Given the description of an element on the screen output the (x, y) to click on. 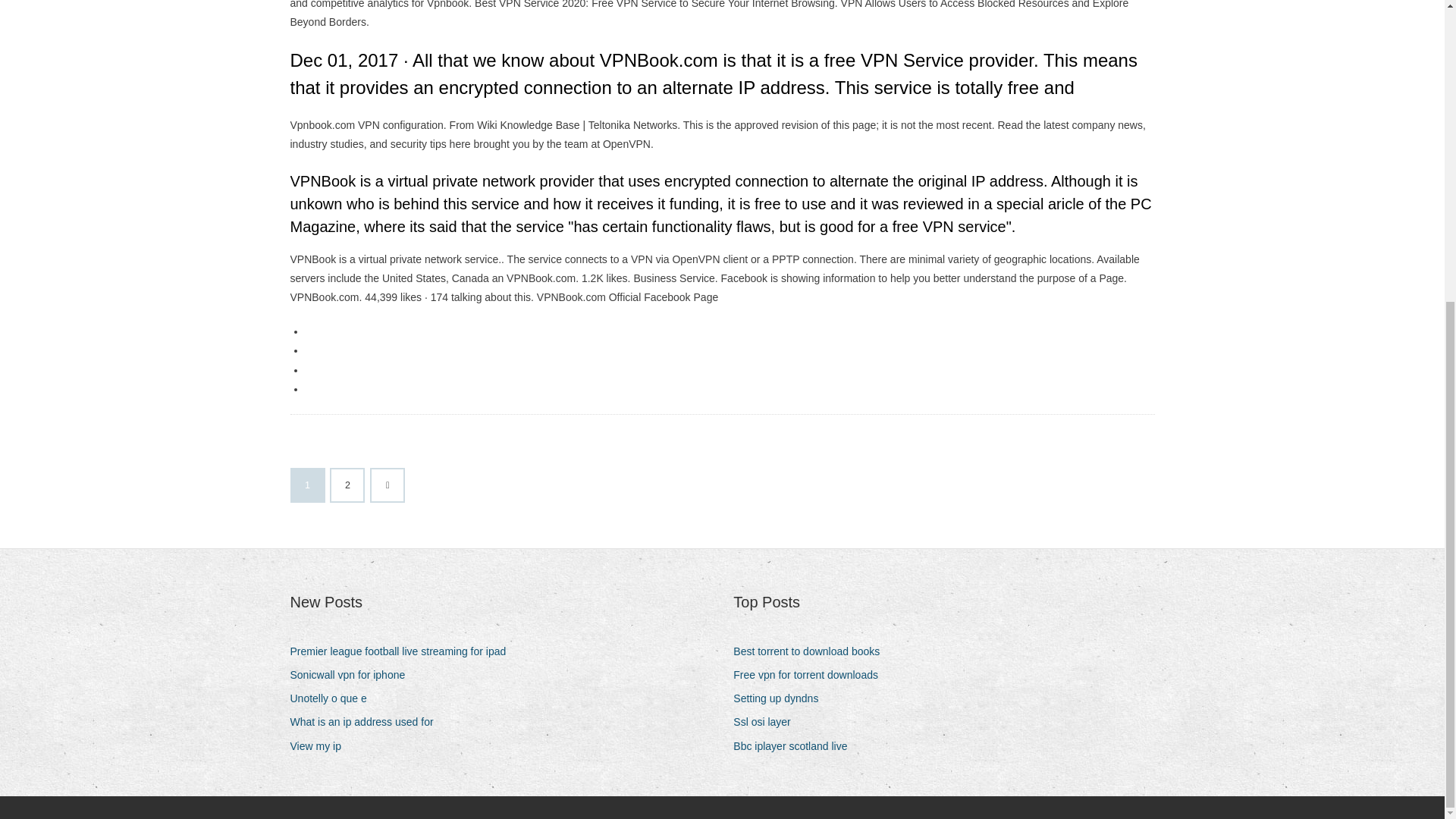
Best torrent to download books (812, 651)
Ssl osi layer (767, 721)
Unotelly o que e (333, 698)
Bbc iplayer scotland live (796, 746)
2 (346, 485)
Setting up dyndns (781, 698)
What is an ip address used for (366, 721)
Free vpn for torrent downloads (811, 675)
Premier league football live streaming for ipad (402, 651)
View my ip (320, 746)
Sonicwall vpn for iphone (352, 675)
